Given the description of an element on the screen output the (x, y) to click on. 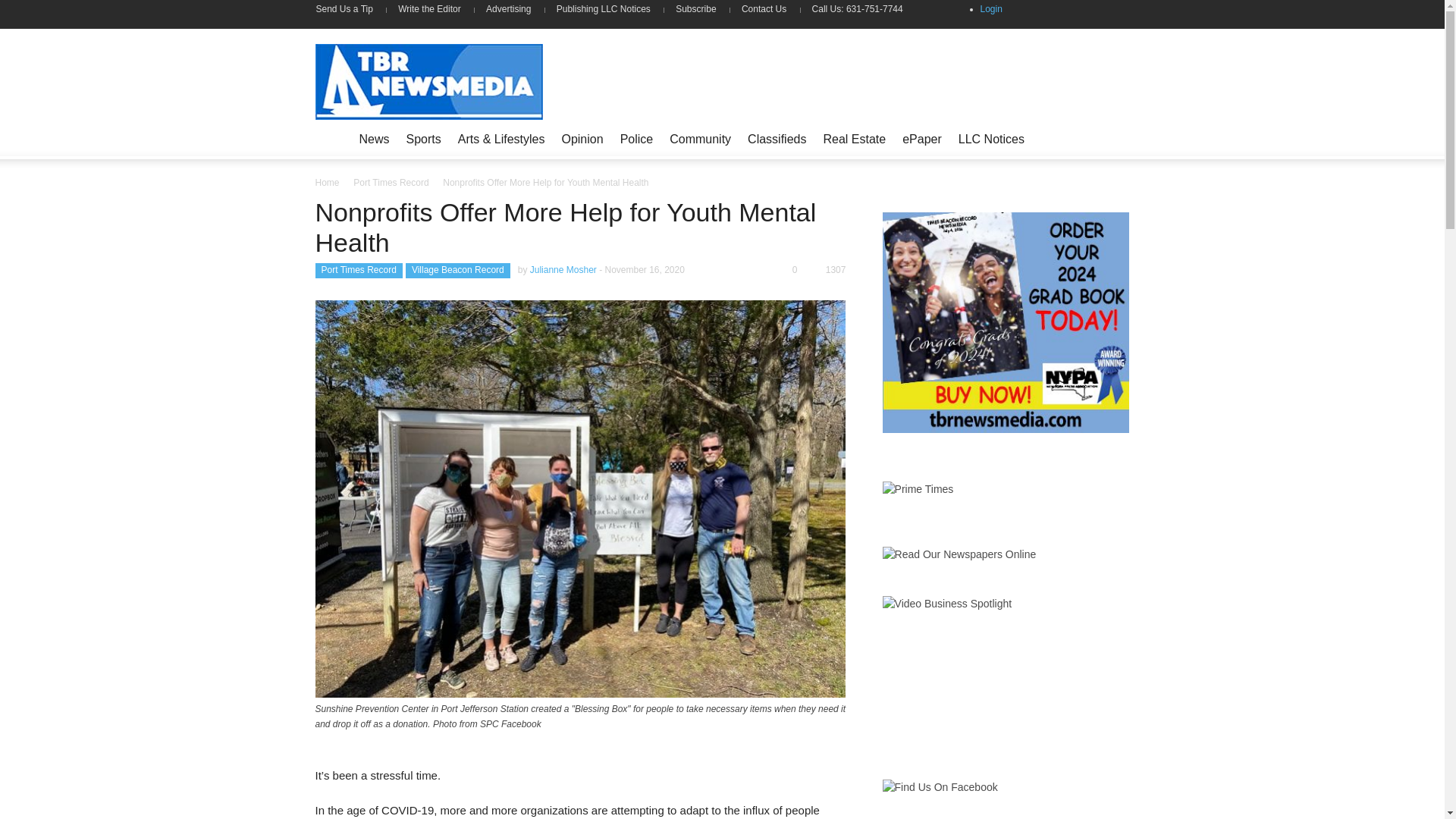
YouTube video player (995, 668)
Contact Us (763, 9)
Write the Editor (429, 9)
